Given the description of an element on the screen output the (x, y) to click on. 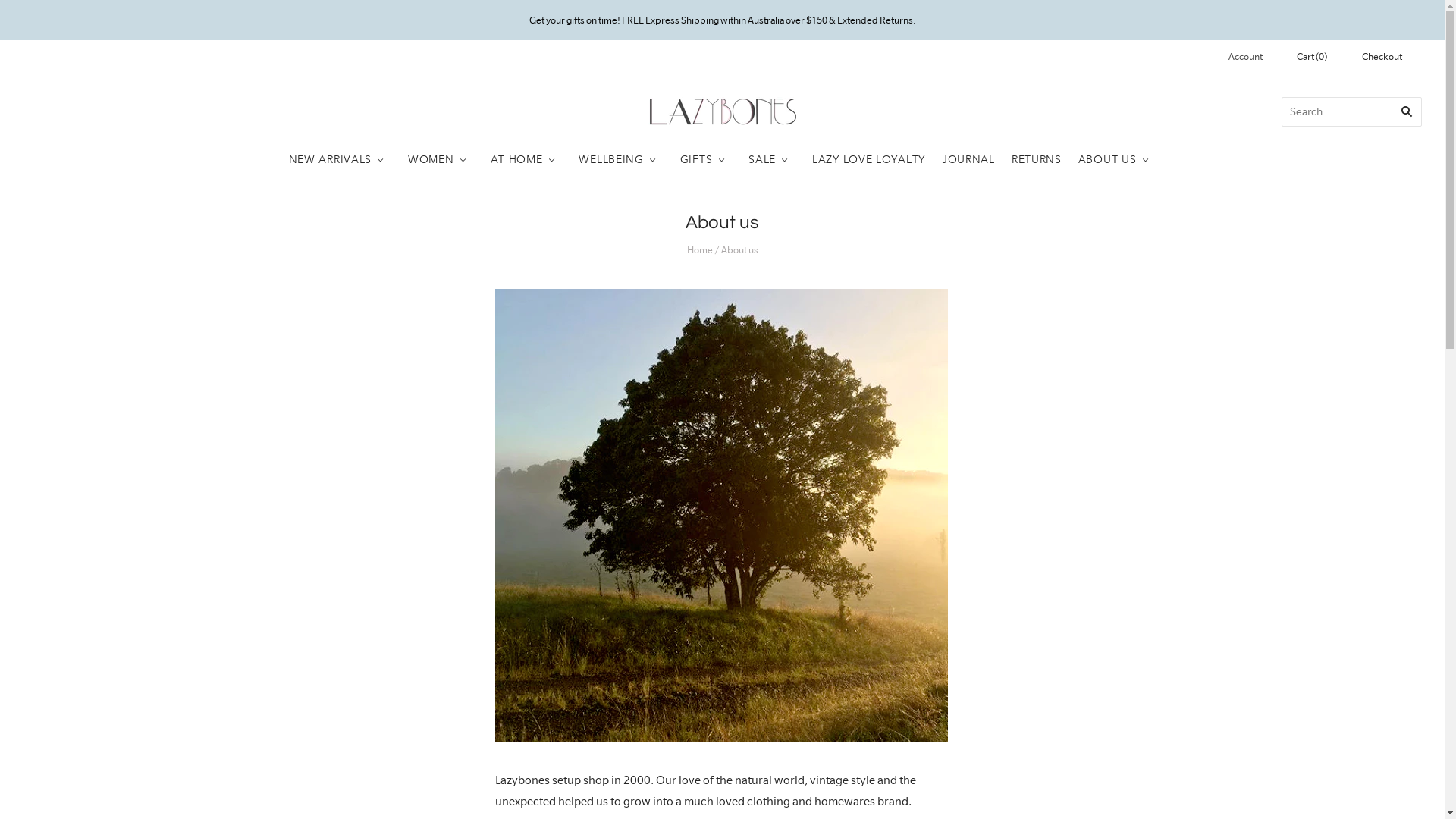
Cart (0) Element type: text (1311, 56)
ABOUT US Element type: text (1117, 159)
WOMEN Element type: text (440, 159)
JOURNAL Element type: text (968, 159)
Checkout Element type: text (1381, 56)
Account Element type: text (1245, 56)
Home Element type: text (699, 249)
NEW ARRIVALS Element type: text (339, 159)
GIFTS Element type: text (705, 159)
AT HOME Element type: text (526, 159)
SALE Element type: text (771, 159)
RETURNS Element type: text (1036, 159)
WELLBEING Element type: text (620, 159)
LAZY LOVE LOYALTY Element type: text (868, 159)
